Given the description of an element on the screen output the (x, y) to click on. 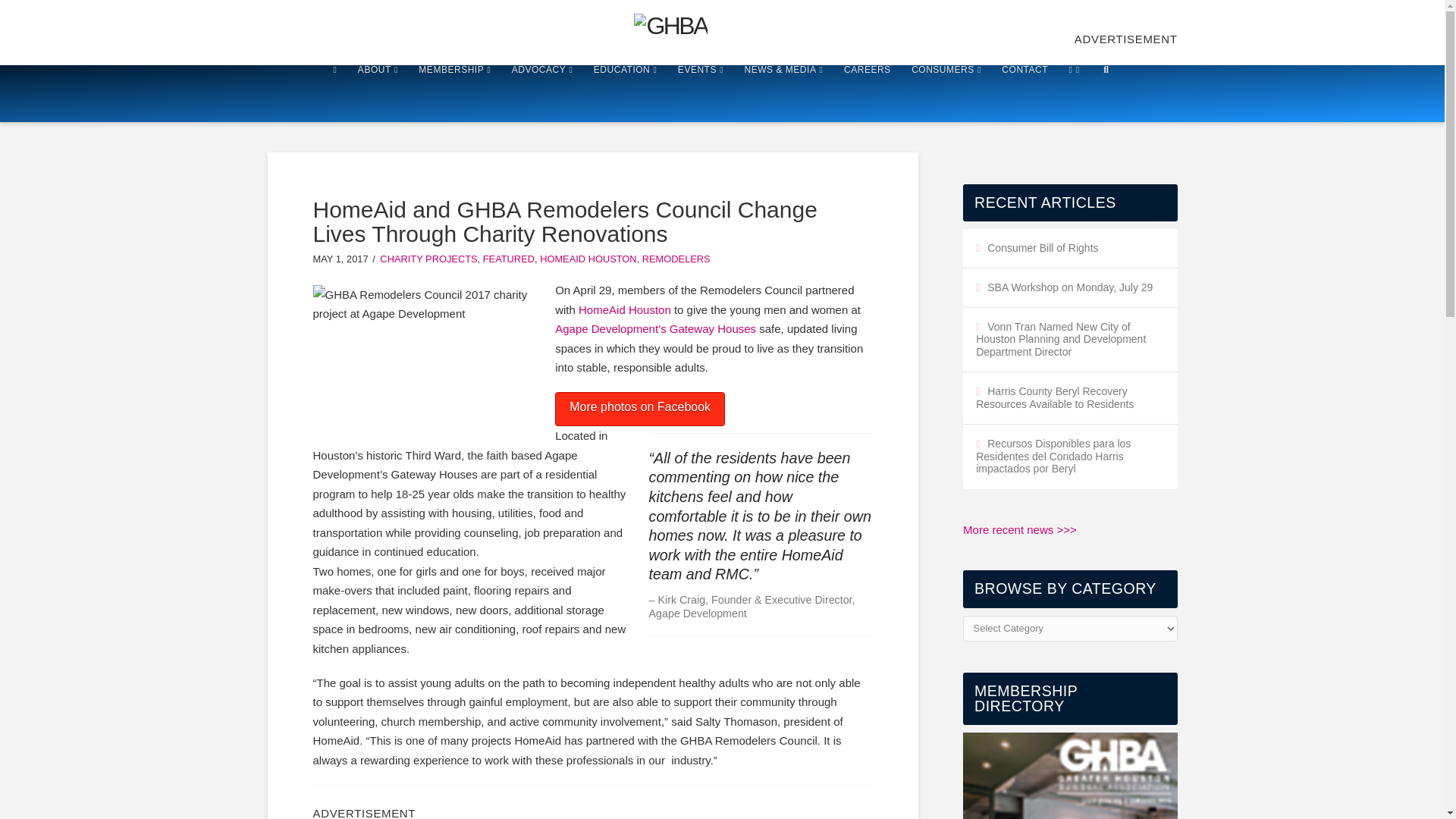
ABOUT (378, 93)
MEMBERSHIP (453, 93)
